Given the description of an element on the screen output the (x, y) to click on. 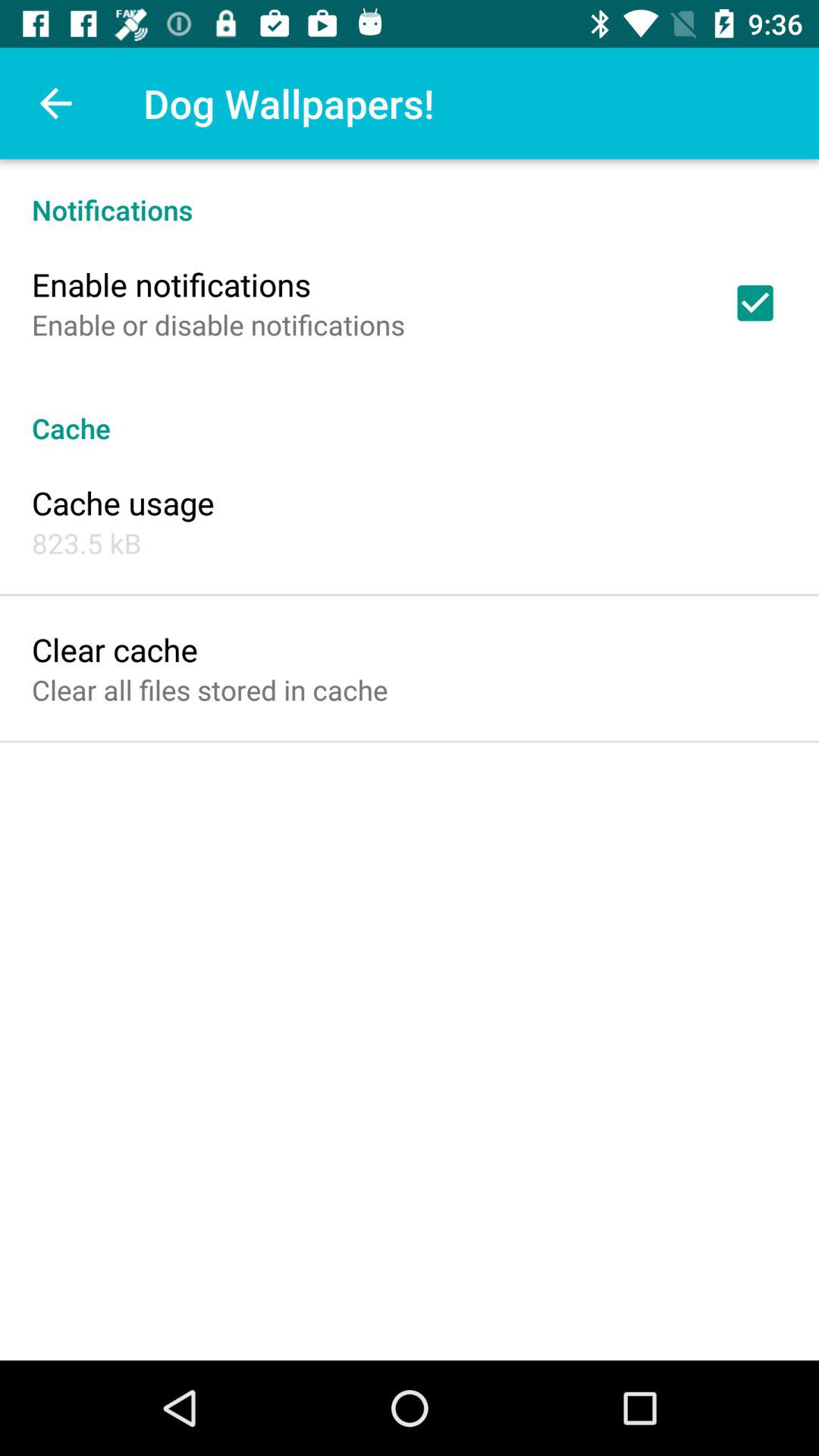
turn off icon above the cache icon (755, 302)
